Given the description of an element on the screen output the (x, y) to click on. 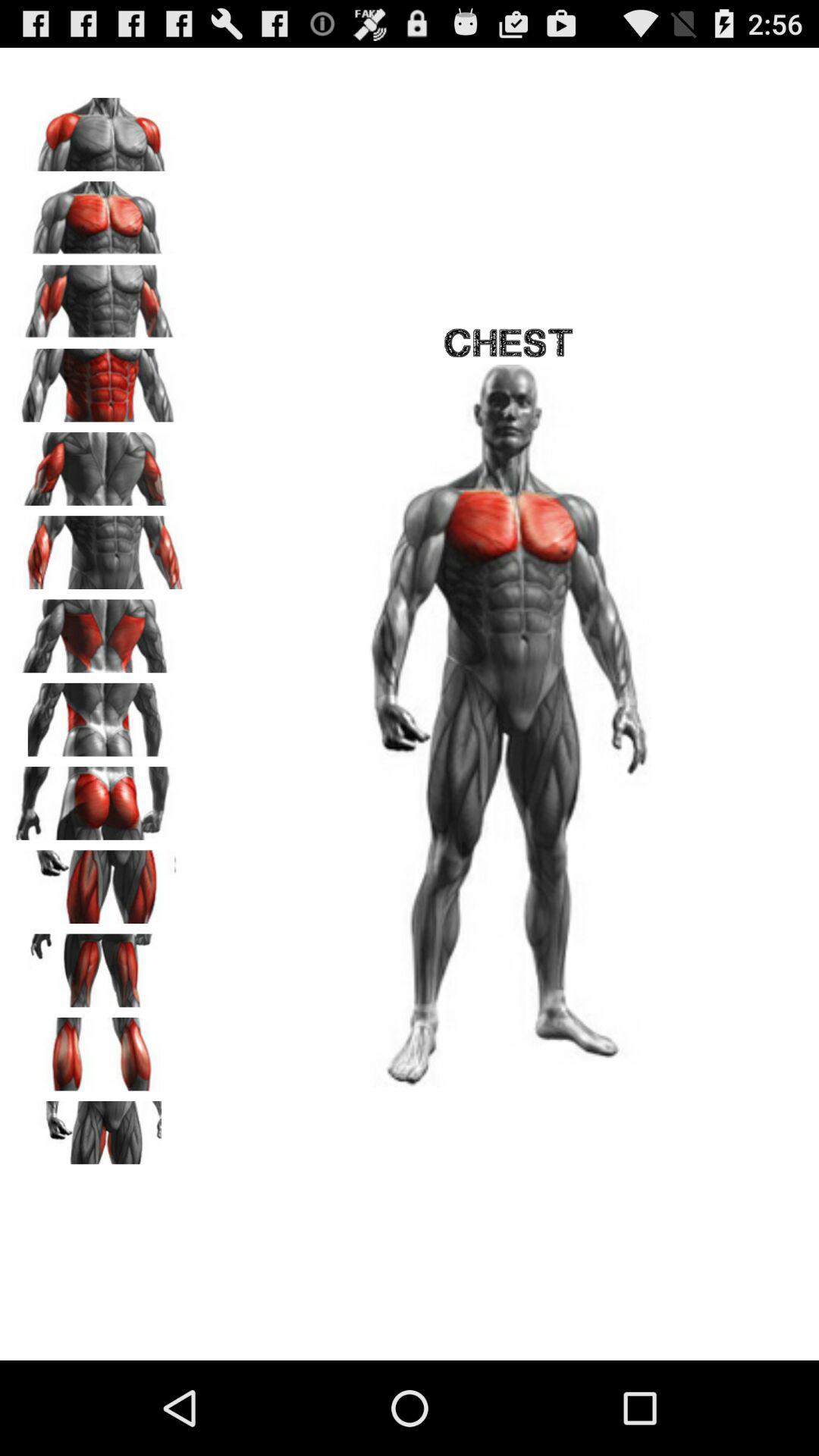
bicep (99, 296)
